Given the description of an element on the screen output the (x, y) to click on. 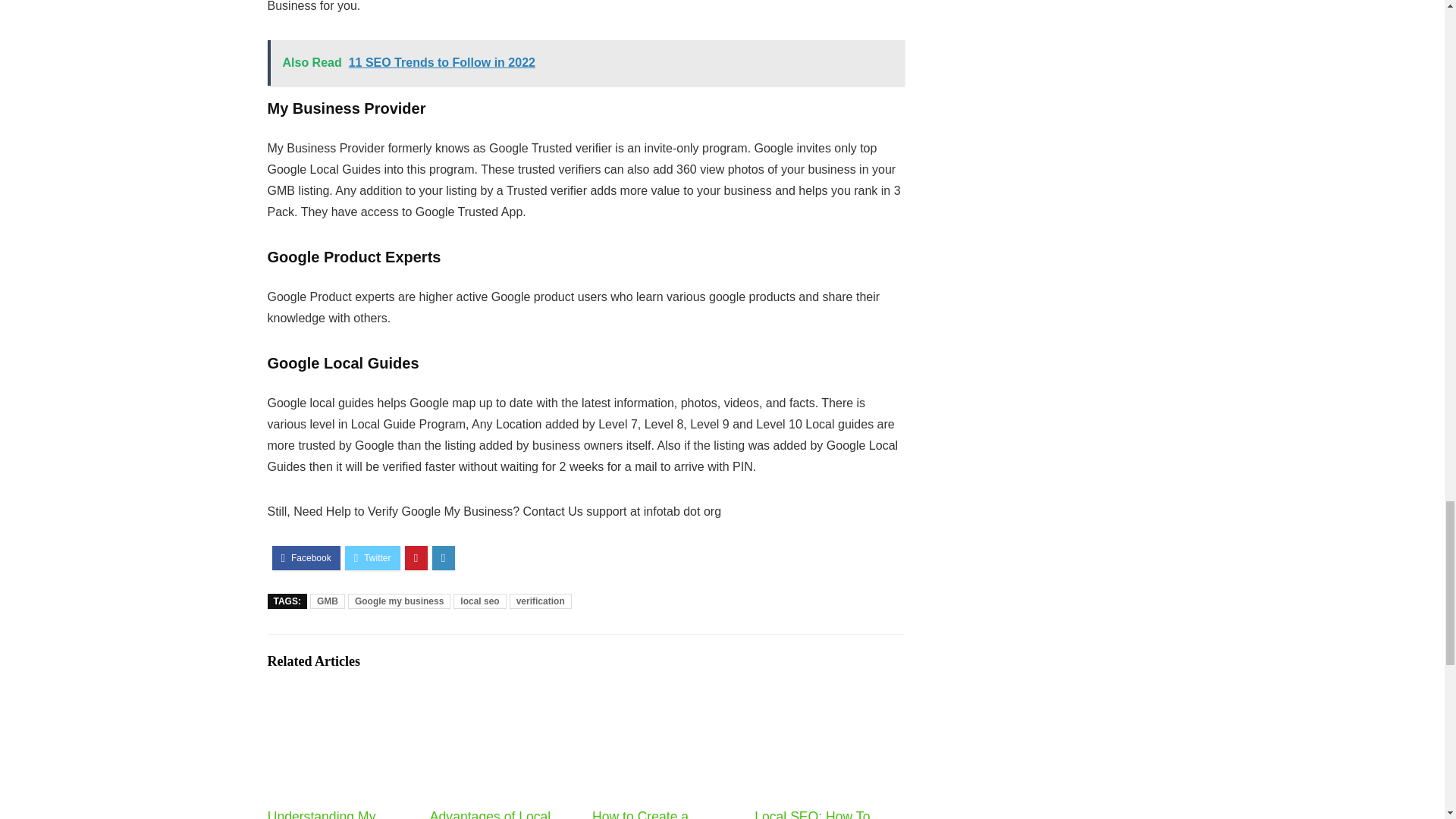
GMB (327, 601)
local seo (478, 601)
Also Read  11 SEO Trends to Follow in 2022 (585, 62)
verification (540, 601)
Google my business (398, 601)
